Given the description of an element on the screen output the (x, y) to click on. 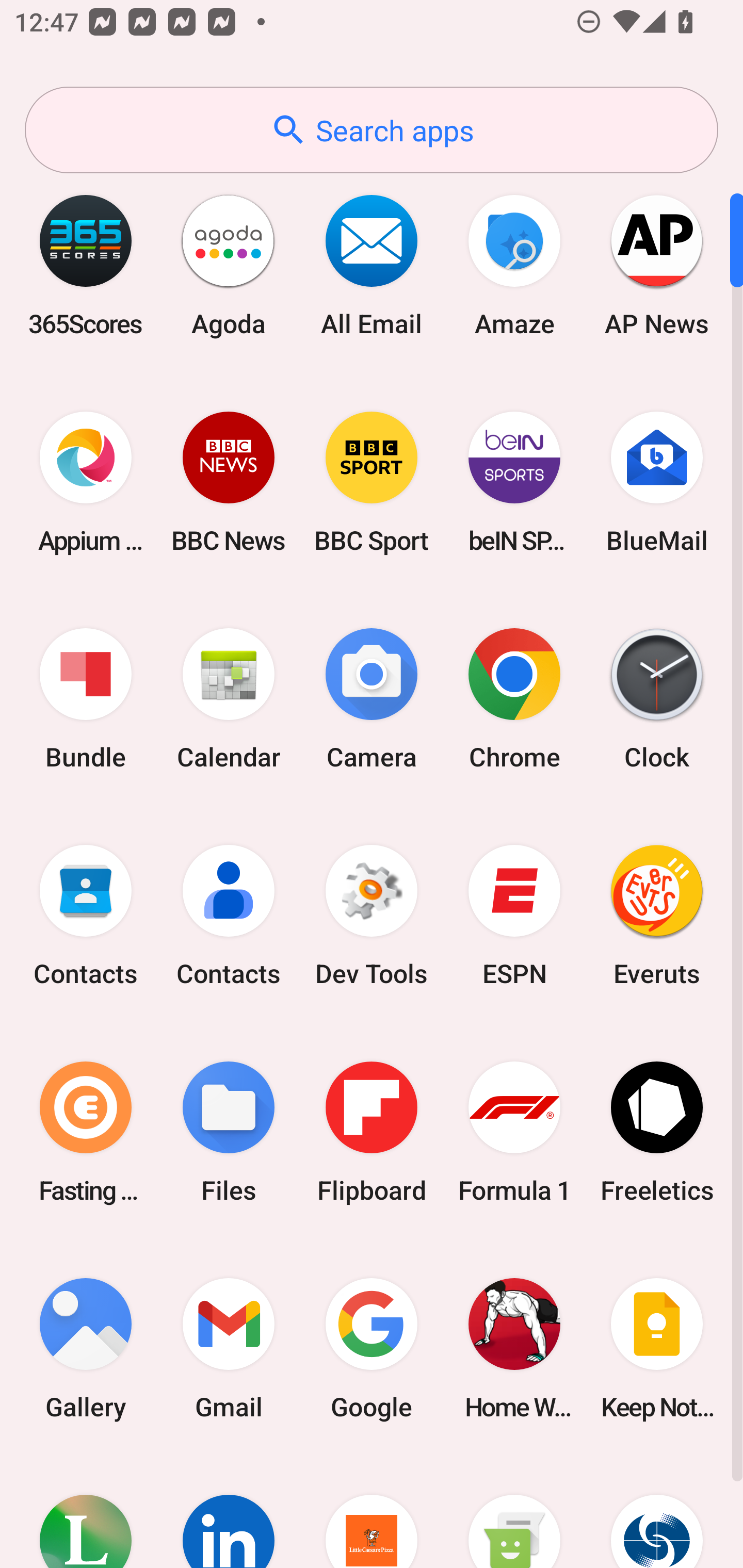
  Search apps (371, 130)
365Scores (85, 264)
Agoda (228, 264)
All Email (371, 264)
Amaze (514, 264)
AP News (656, 264)
Appium Settings (85, 482)
BBC News (228, 482)
BBC Sport (371, 482)
beIN SPORTS (514, 482)
BlueMail (656, 482)
Bundle (85, 699)
Calendar (228, 699)
Camera (371, 699)
Chrome (514, 699)
Clock (656, 699)
Contacts (85, 915)
Contacts (228, 915)
Dev Tools (371, 915)
ESPN (514, 915)
Everuts (656, 915)
Fasting Coach (85, 1131)
Files (228, 1131)
Flipboard (371, 1131)
Formula 1 (514, 1131)
Freeletics (656, 1131)
Gallery (85, 1348)
Gmail (228, 1348)
Google (371, 1348)
Home Workout (514, 1348)
Keep Notes (656, 1348)
